Given the description of an element on the screen output the (x, y) to click on. 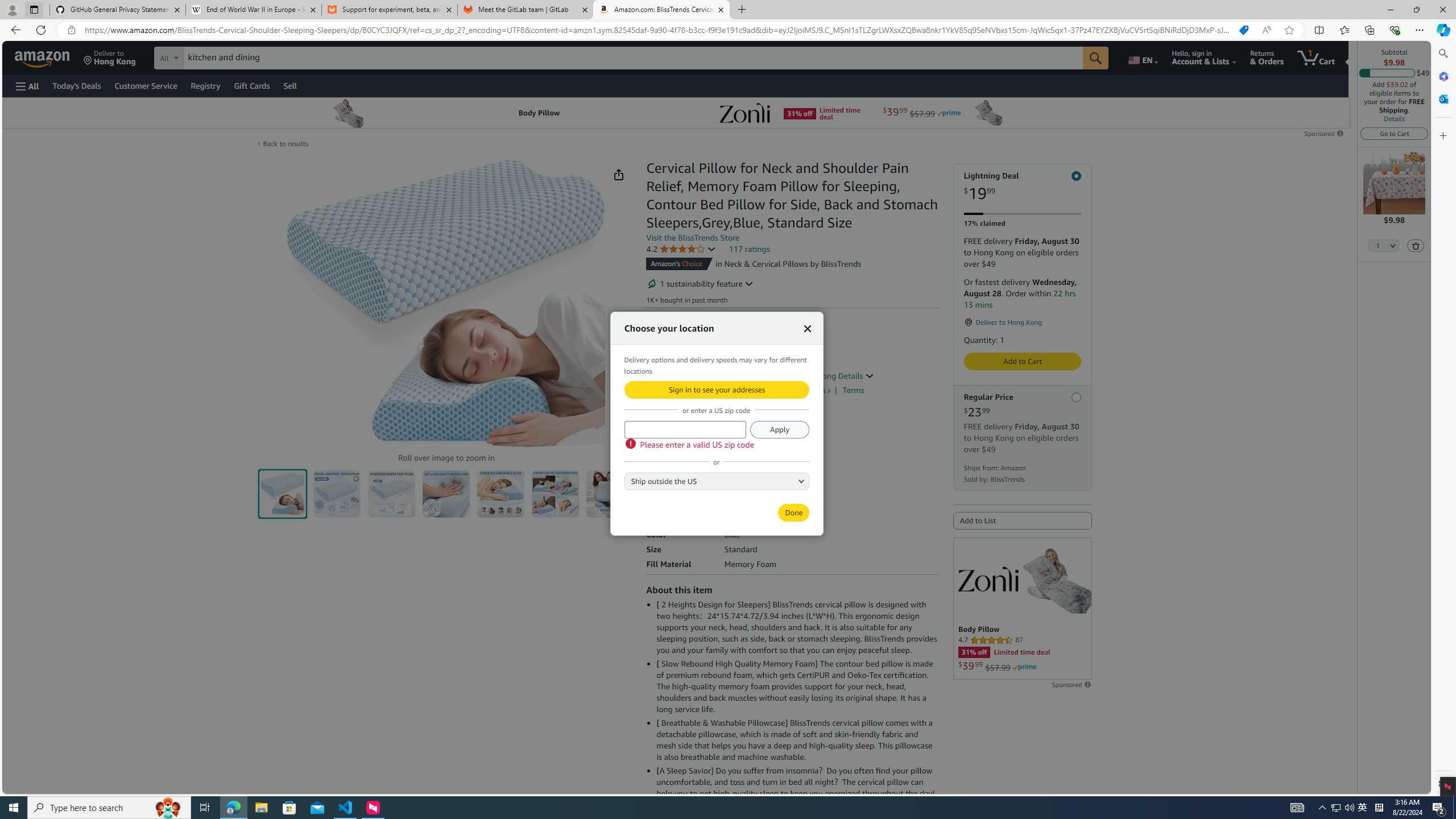
117 ratings (749, 248)
Amazon (43, 57)
AutomationID: GLUXCountryList (716, 479)
GitHub General Privacy Statement - GitHub Docs (117, 9)
Deliver to Hong Kong (109, 57)
Visit the BlissTrends Store (692, 237)
Prime (1023, 666)
Grey (684, 433)
1 item in cart (1315, 57)
